Given the description of an element on the screen output the (x, y) to click on. 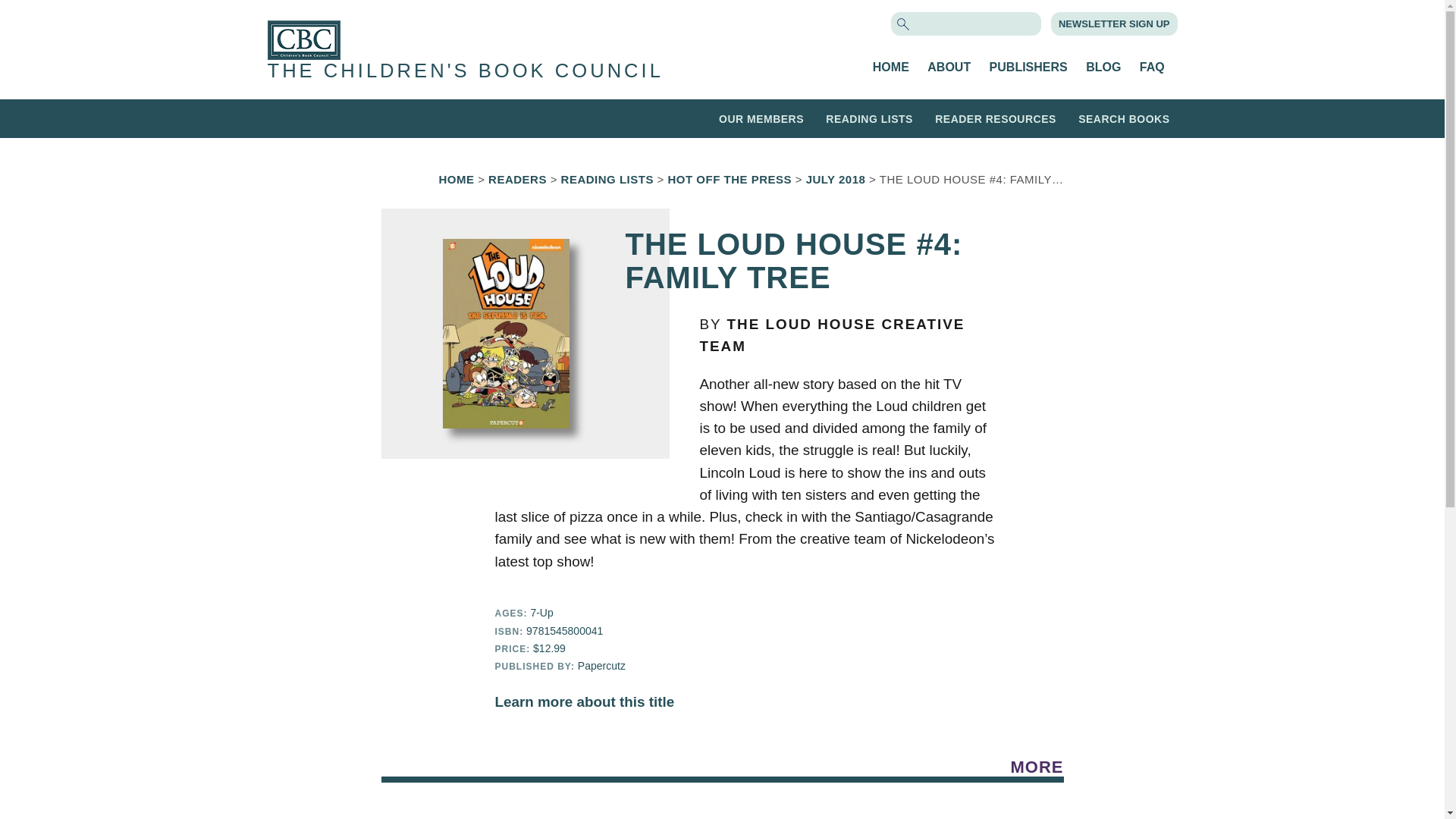
READING LISTS (868, 118)
FAQ (1152, 66)
READER RESOURCES (995, 118)
SEARCH BOOKS (1123, 118)
NEWSLETTER SIGN UP (1114, 23)
ABOUT (949, 66)
THE CHILDREN'S BOOK COUNCIL (464, 70)
OUR MEMBERS (761, 118)
Search (39, 13)
PUBLISHERS (1028, 66)
READERS (517, 178)
HOME (890, 66)
HOME (456, 178)
BLOG (1103, 66)
